Given the description of an element on the screen output the (x, y) to click on. 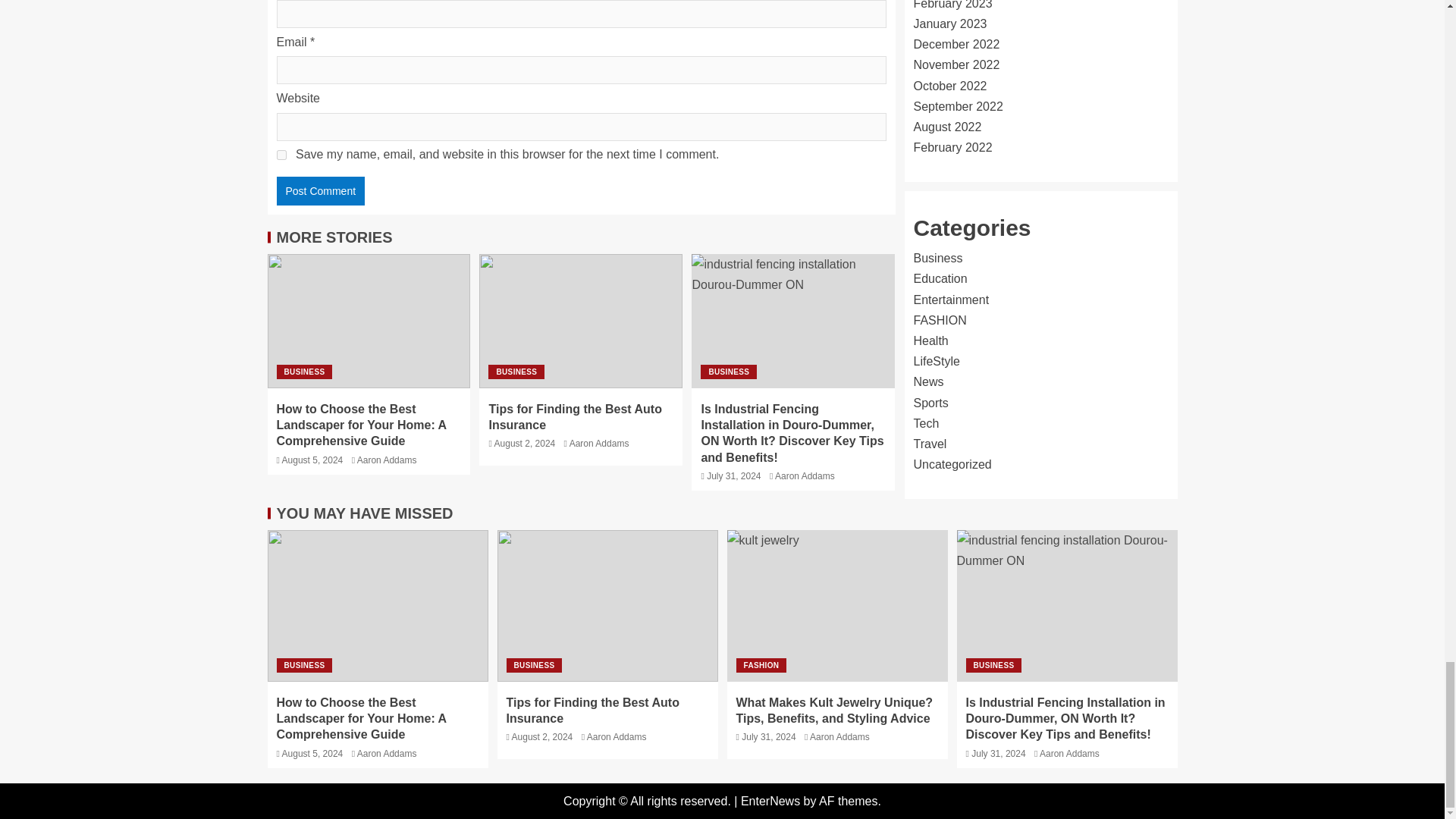
BUSINESS (303, 371)
yes (280, 154)
BUSINESS (515, 371)
Aaron Addams (386, 460)
Post Comment (320, 190)
Post Comment (320, 190)
